Given the description of an element on the screen output the (x, y) to click on. 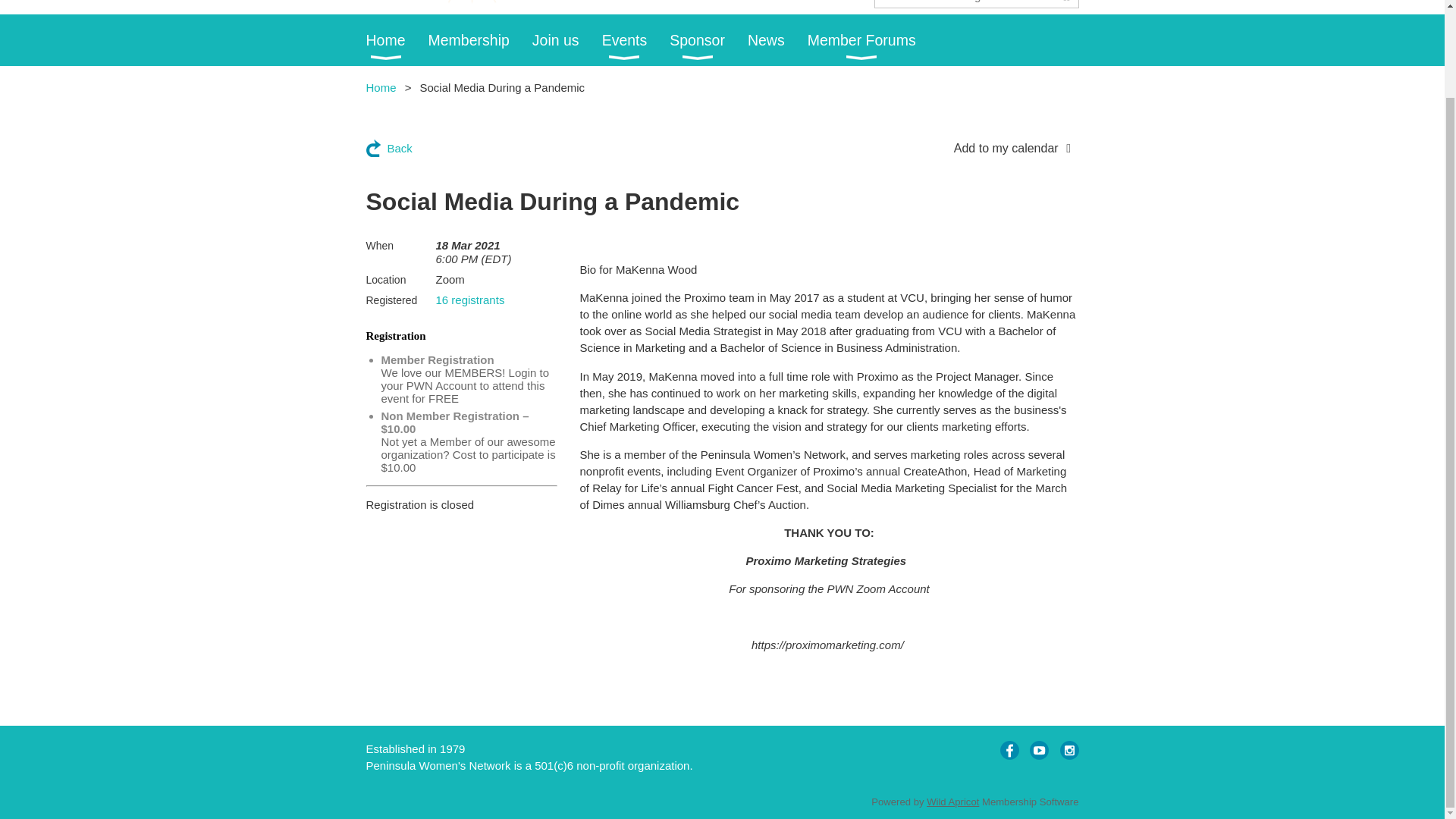
Join us (567, 40)
News (778, 40)
16 registrants (469, 299)
Home (396, 40)
Home (380, 87)
Join us (567, 40)
Sponsor (708, 40)
Home (396, 40)
News (778, 40)
